Given the description of an element on the screen output the (x, y) to click on. 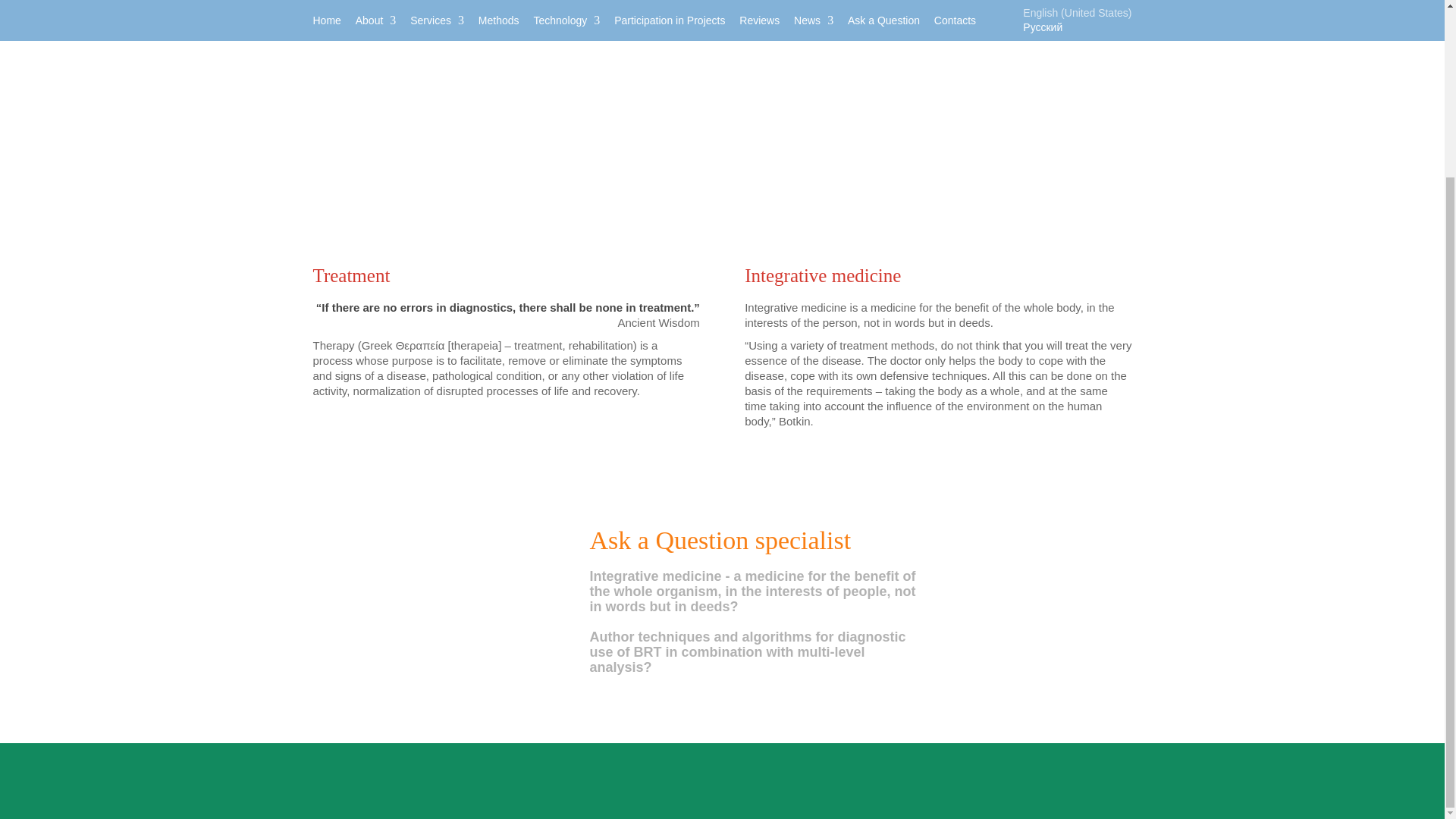
Integrative medicine (937, 275)
Treatment (505, 275)
Ask a Question specialist (720, 540)
